Given the description of an element on the screen output the (x, y) to click on. 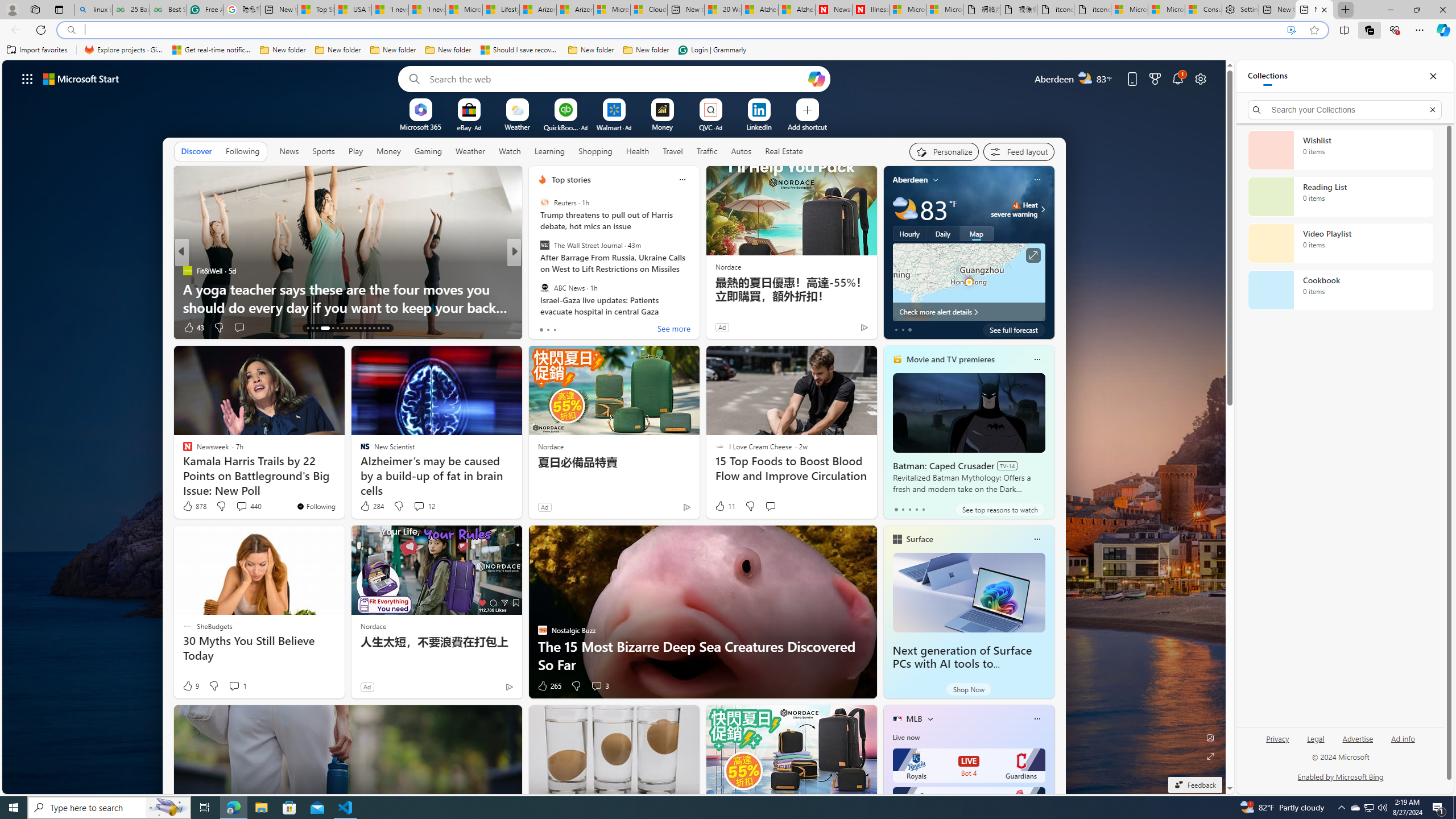
Shop Now (968, 689)
View comments 12 Comment (419, 505)
Expand background (1210, 756)
AutomationID: tab-27 (378, 328)
AutomationID: tab-22 (355, 328)
1 Like (541, 327)
Newsweek - News, Analysis, Politics, Business, Technology (833, 9)
AutomationID: tab-29 (387, 328)
4k Like (543, 327)
Mice lived 20% longer after astounding anti-aging drug trial (697, 298)
Microsoft Services Agreement (611, 9)
Partly cloudy (904, 208)
